Given the description of an element on the screen output the (x, y) to click on. 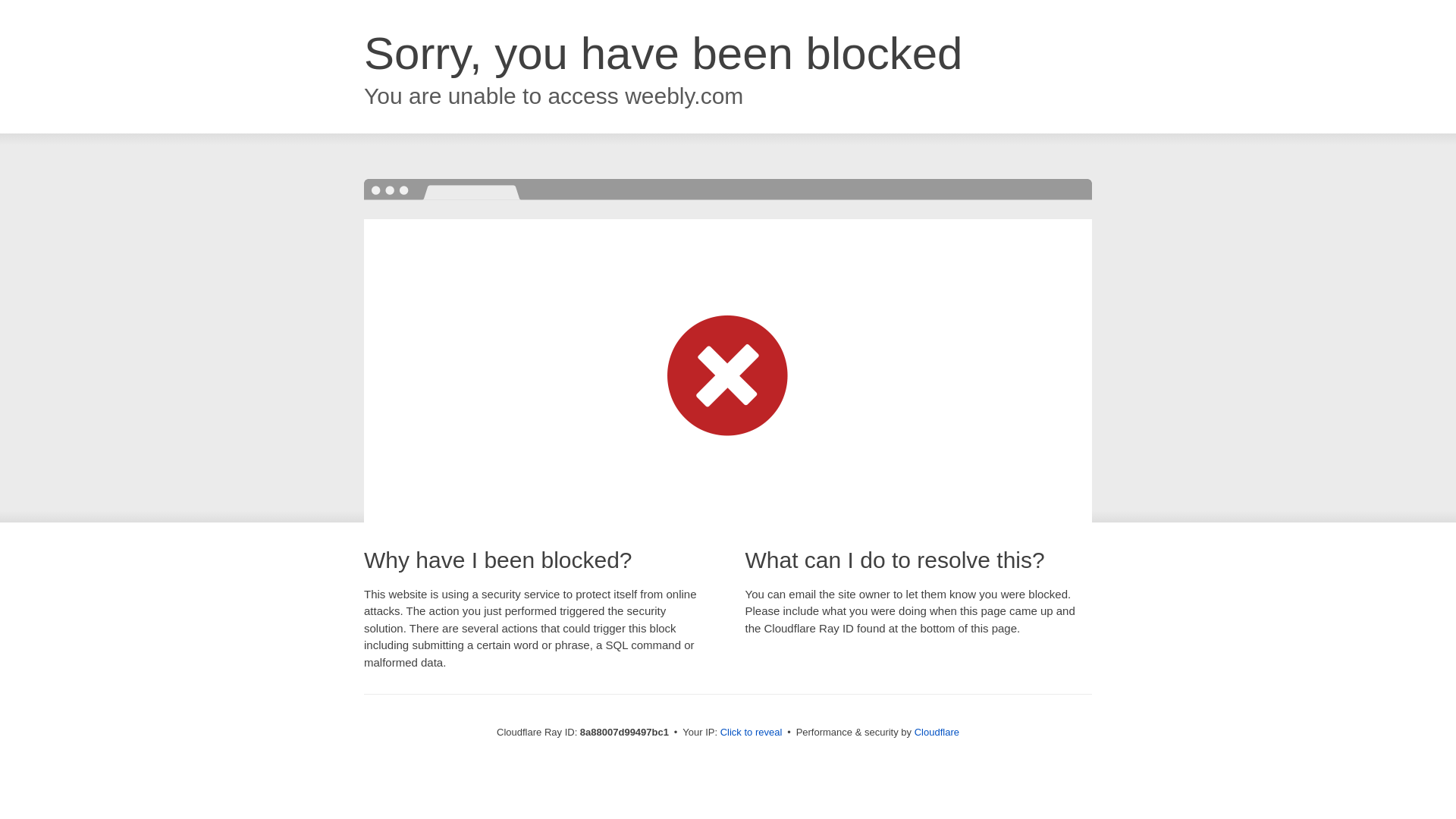
Click to reveal (751, 732)
Cloudflare (936, 731)
